Given the description of an element on the screen output the (x, y) to click on. 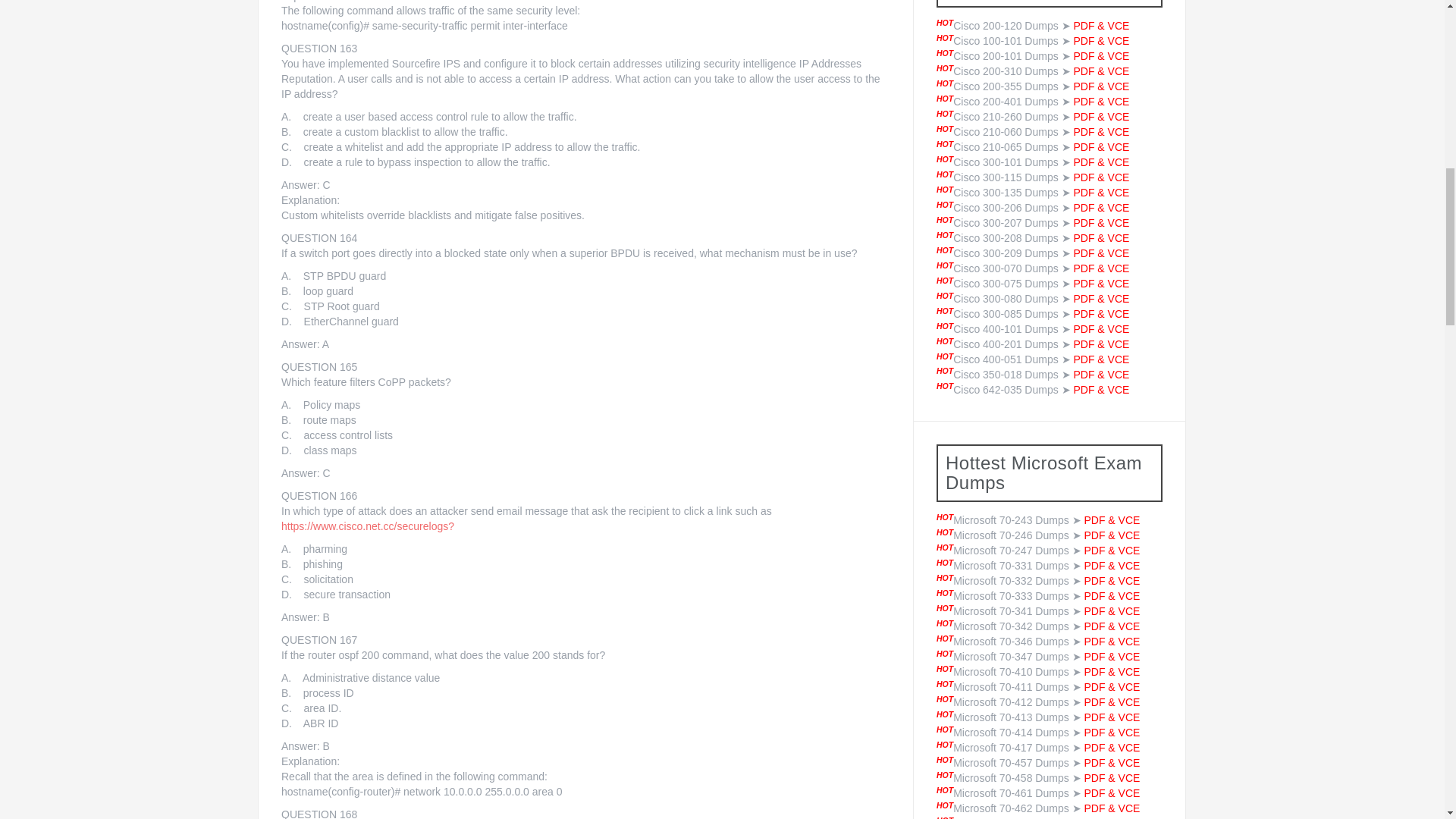
Cisco 100-101 Dumps (1005, 40)
Cisco 200-101 Dumps (1005, 55)
Cisco 200-310 Dumps (1005, 70)
Cisco 200-120 Dumps (1005, 25)
